Given the description of an element on the screen output the (x, y) to click on. 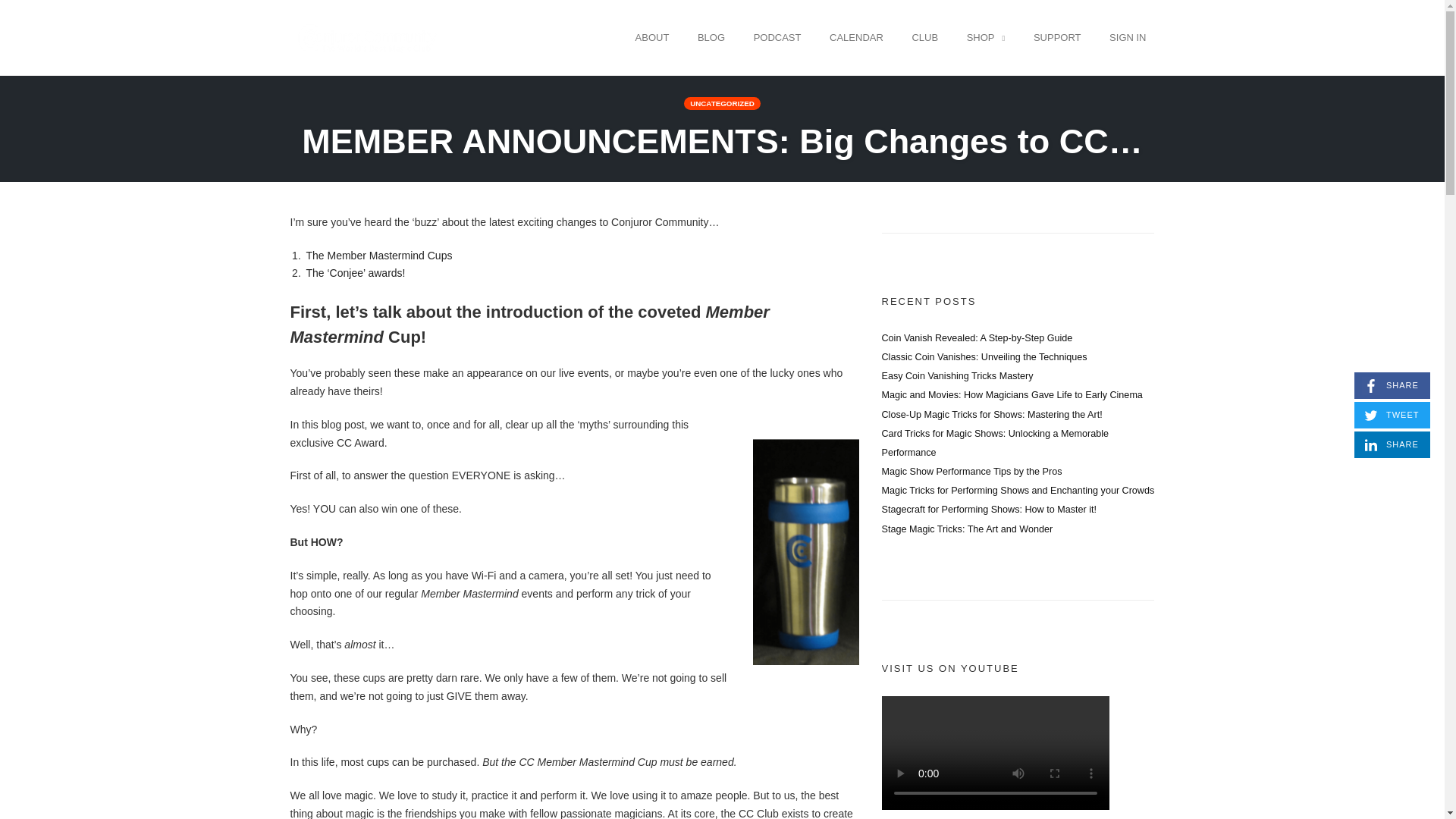
Magic Tricks for Performing Shows and Enchanting your Crowds (1017, 490)
Close-Up Magic Tricks for Shows: Mastering the Art! (991, 414)
UNCATEGORIZED (722, 103)
Magic Show Performance Tips by the Pros (970, 471)
Skip to content (1391, 444)
Coin Vanish Revealed: A Step-by-Step Guide (983, 357)
SHOP (975, 337)
Magic and Movies: How Magicians Gave Life to Early Cinema (985, 37)
CLUB (1391, 385)
Easy Coin Vanishing Tricks Mastery (1010, 394)
Stagecraft for Performing Shows: How to Master it! (924, 37)
